Given the description of an element on the screen output the (x, y) to click on. 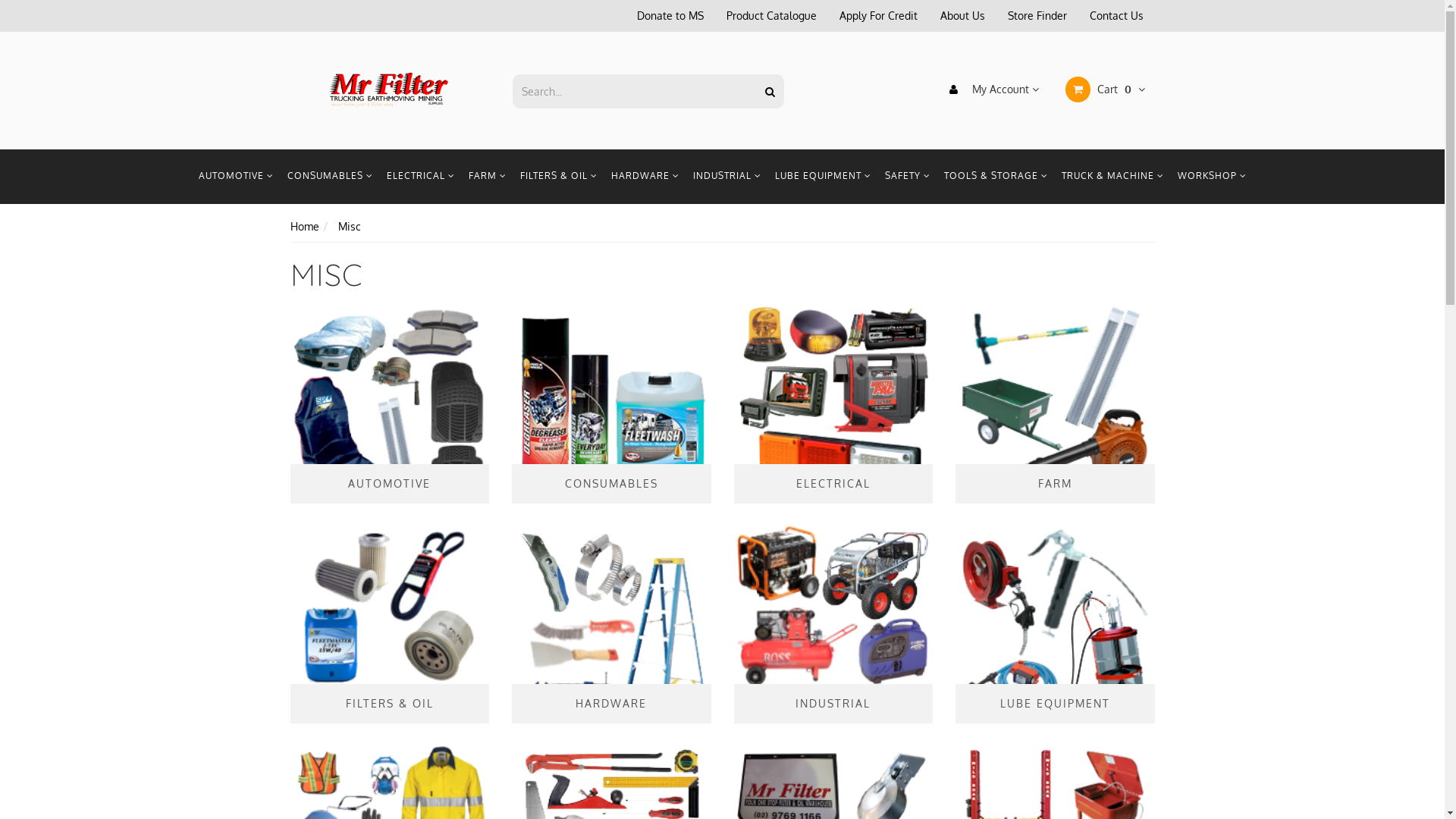
TRUCK & MACHINE Element type: text (1112, 176)
CONSUMABLES Element type: text (329, 176)
FILTERS & OIL Element type: text (389, 624)
Product Catalogue Element type: text (770, 15)
AUTOMOTIVE Element type: text (389, 404)
FILTERS & OIL Element type: text (557, 176)
ELECTRICAL Element type: text (420, 176)
CONSUMABLES Element type: text (611, 404)
SAFETY Element type: text (907, 176)
LUBE EQUIPMENT Element type: text (1054, 624)
My Account Element type: text (988, 89)
Donate to MS Element type: text (669, 15)
Home Element type: text (303, 225)
HARDWARE Element type: text (644, 176)
Store Finder Element type: text (1037, 15)
FARM Element type: text (1054, 404)
Contact Us Element type: text (1116, 15)
HARDWARE Element type: text (611, 624)
INDUSTRIAL Element type: text (726, 176)
About Us Element type: text (961, 15)
Mr Filter Element type: hover (389, 89)
Apply For Credit Element type: text (878, 15)
Search Element type: text (770, 91)
LUBE EQUIPMENT Element type: text (822, 176)
Cart 0 Element type: text (1102, 89)
INDUSTRIAL Element type: text (833, 624)
ELECTRICAL Element type: text (833, 404)
TOOLS & STORAGE Element type: text (995, 176)
WORKSHOP Element type: text (1211, 176)
AUTOMOTIVE Element type: text (235, 176)
FARM Element type: text (486, 176)
Misc Element type: text (349, 225)
